Given the description of an element on the screen output the (x, y) to click on. 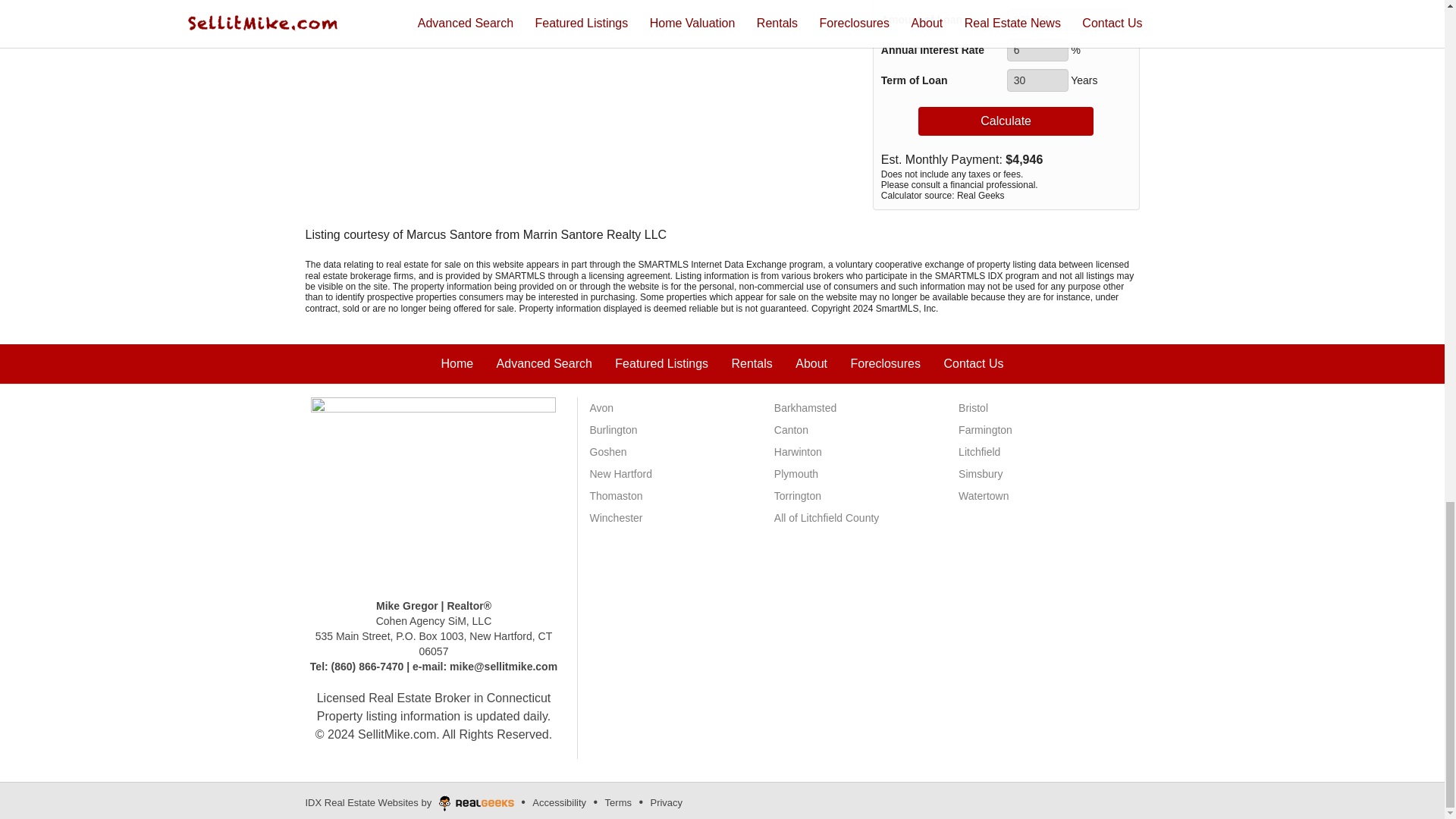
30 (1037, 79)
6 (1037, 49)
825000 (1068, 19)
